Given the description of an element on the screen output the (x, y) to click on. 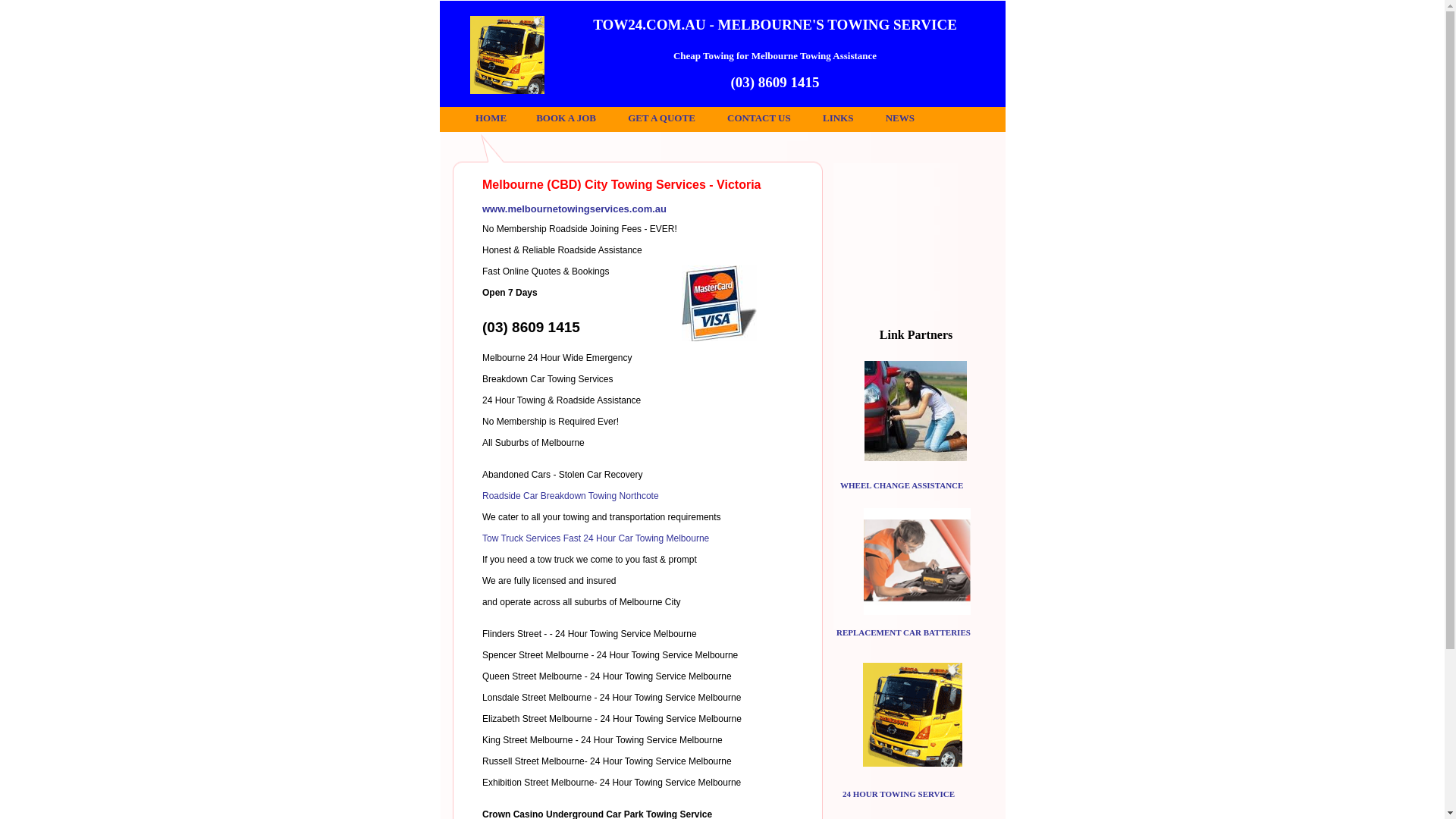
NEWS Element type: text (899, 117)
LINKS Element type: text (837, 117)
BOOK A JOB Element type: text (566, 117)
HOME Element type: text (490, 117)
GET A QUOTE Element type: text (661, 117)
24 HOUR TOWING SERVICE Element type: text (898, 793)
CONTACT US Element type: text (758, 117)
WHEEL CHANGE ASSISTANCE Element type: text (901, 484)
www.melbournetowingservices.com.au Element type: text (574, 208)
REPLACEMENT CAR BATTERIES Element type: text (903, 632)
Roadside Car Breakdown Towing Northcote Element type: text (570, 495)
Tow Truck Services Fast 24 Hour Car Towing Melbourne Element type: text (595, 538)
